Given the description of an element on the screen output the (x, y) to click on. 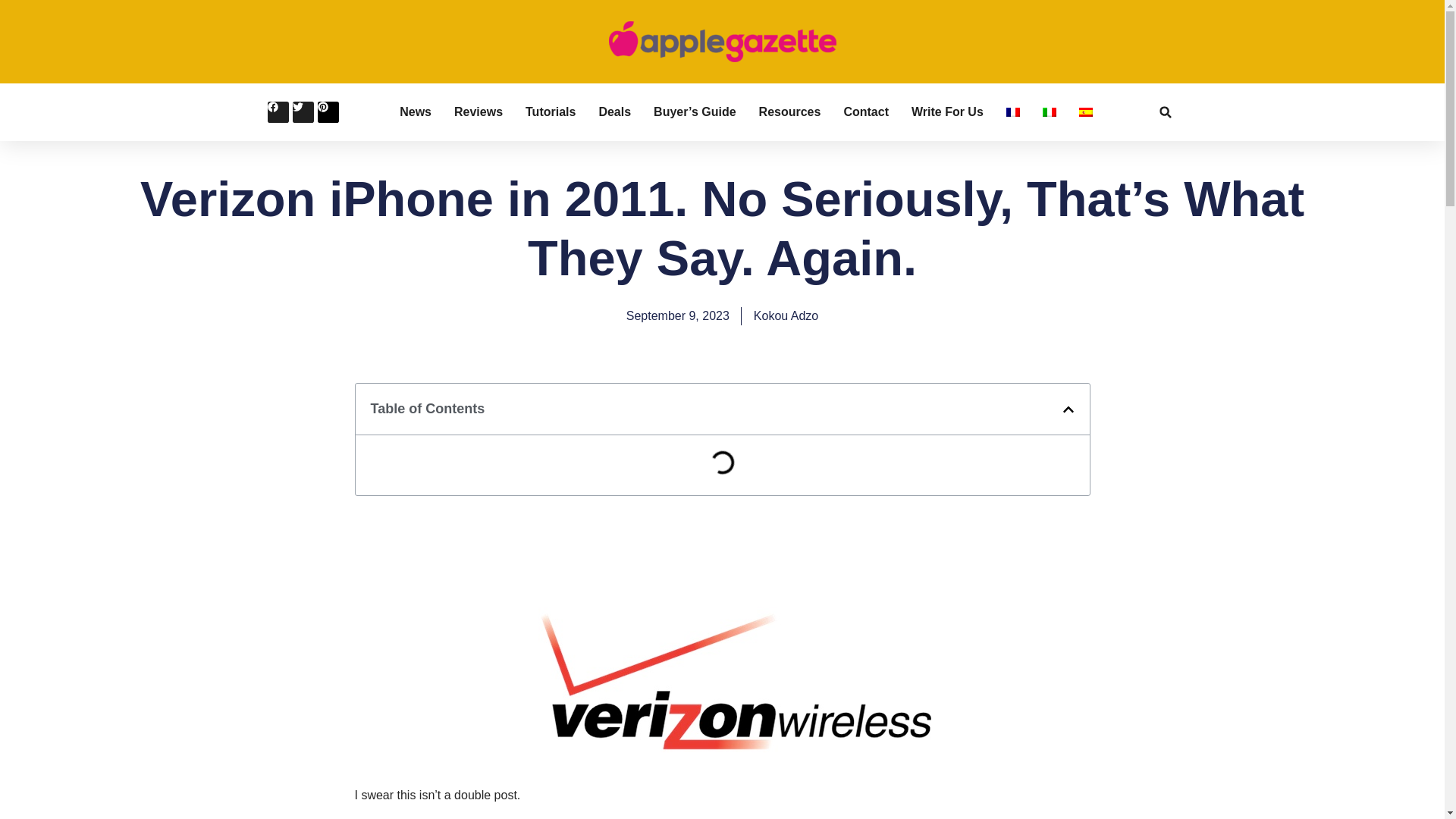
Reviews (478, 112)
Contact (865, 112)
Write For Us (947, 112)
verizon (722, 657)
Deals (614, 112)
News (414, 112)
Resources (789, 112)
Tutorials (550, 112)
